Given the description of an element on the screen output the (x, y) to click on. 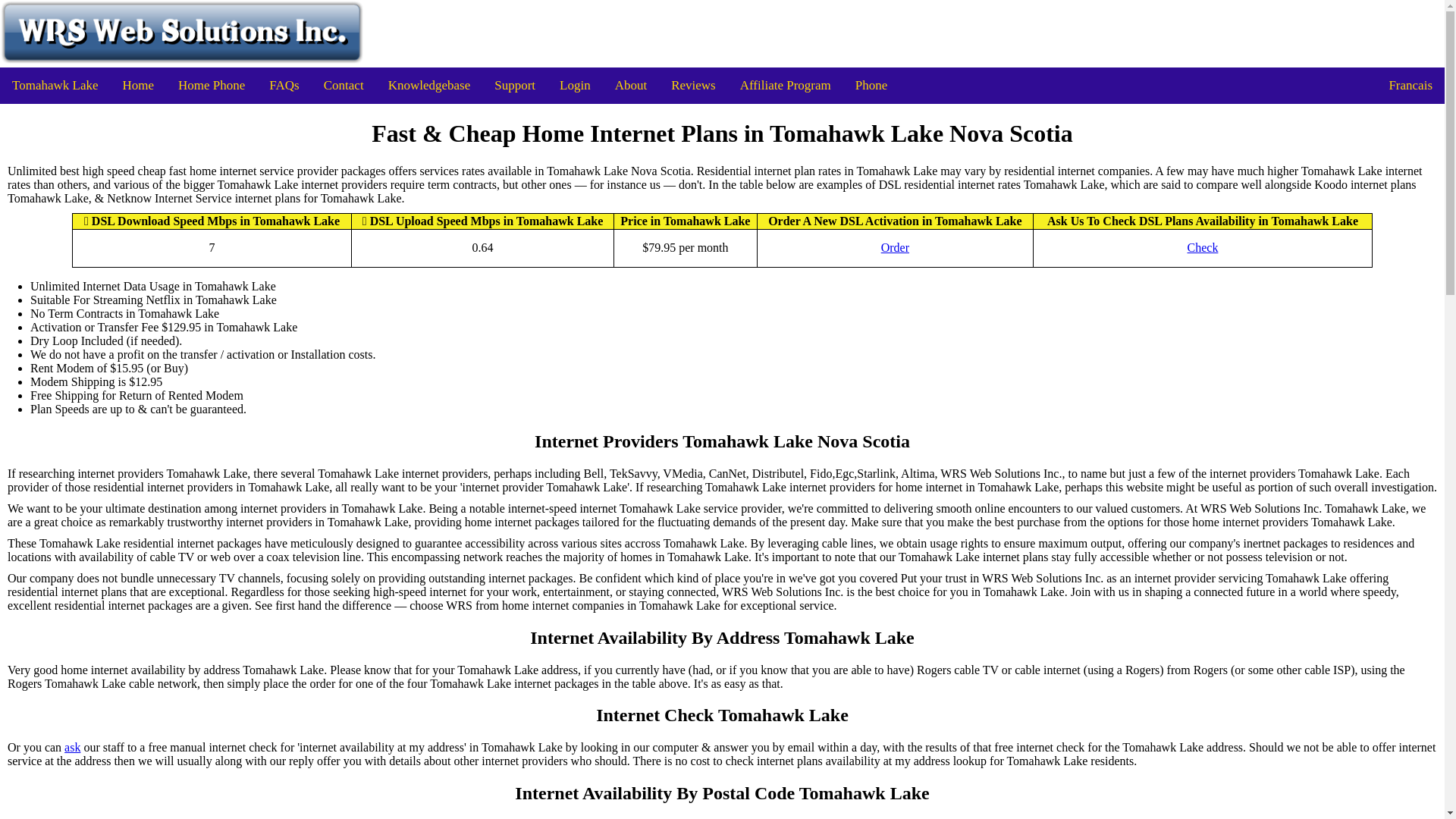
Knowledgebase (429, 85)
Home (138, 85)
About (630, 85)
Home Phone (211, 85)
Tomahawk Lake (55, 85)
Reviews (693, 85)
Login (574, 85)
ask (72, 747)
Affiliate Program (785, 85)
Phone (871, 85)
